Given the description of an element on the screen output the (x, y) to click on. 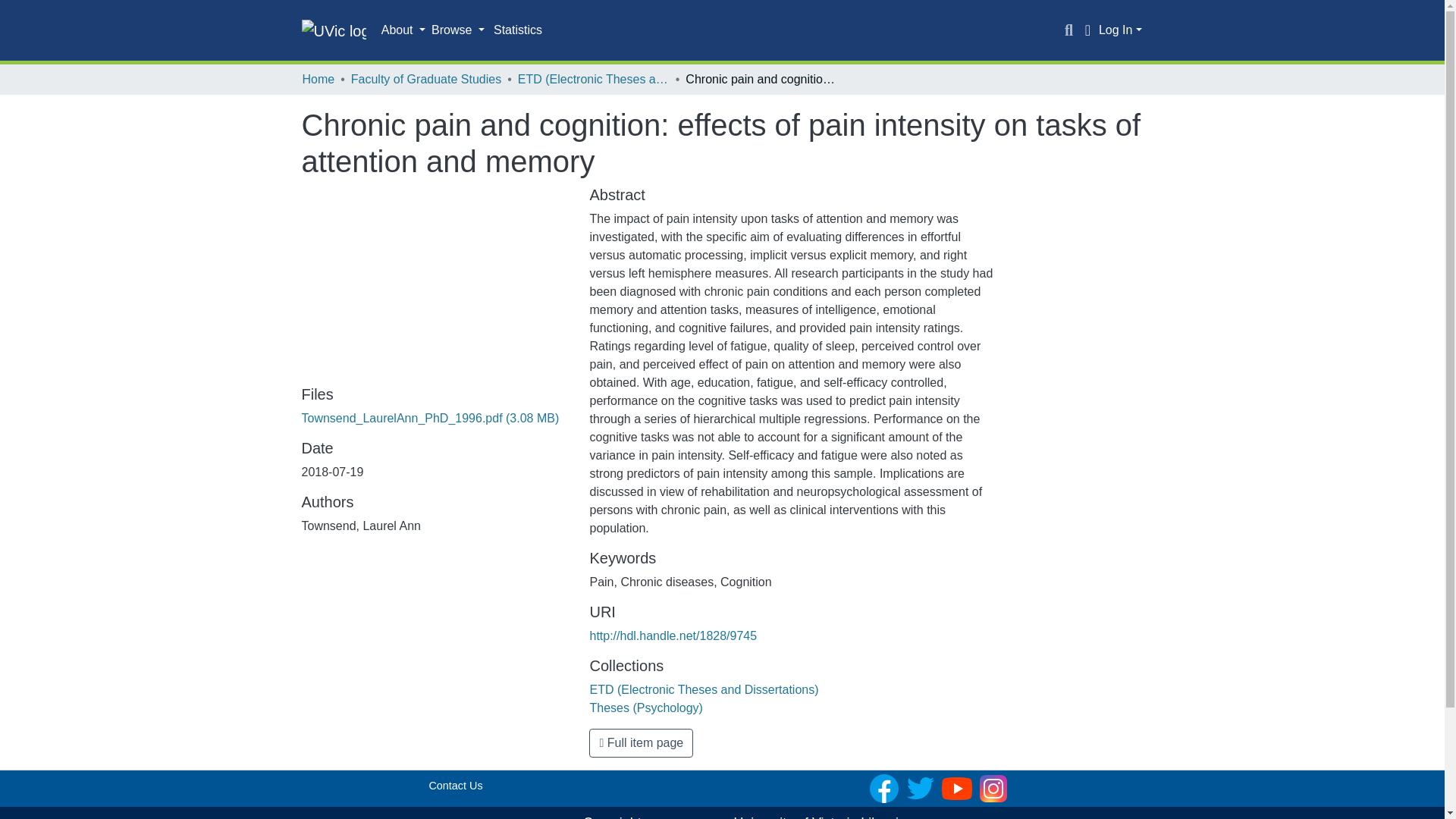
Language switch (1087, 30)
Search (1068, 30)
Faculty of Graduate Studies (425, 79)
Statistics (517, 30)
About (403, 30)
Full item page (641, 742)
Contact Us (454, 785)
Home (317, 79)
Statistics (517, 30)
Log In (1119, 29)
